Given the description of an element on the screen output the (x, y) to click on. 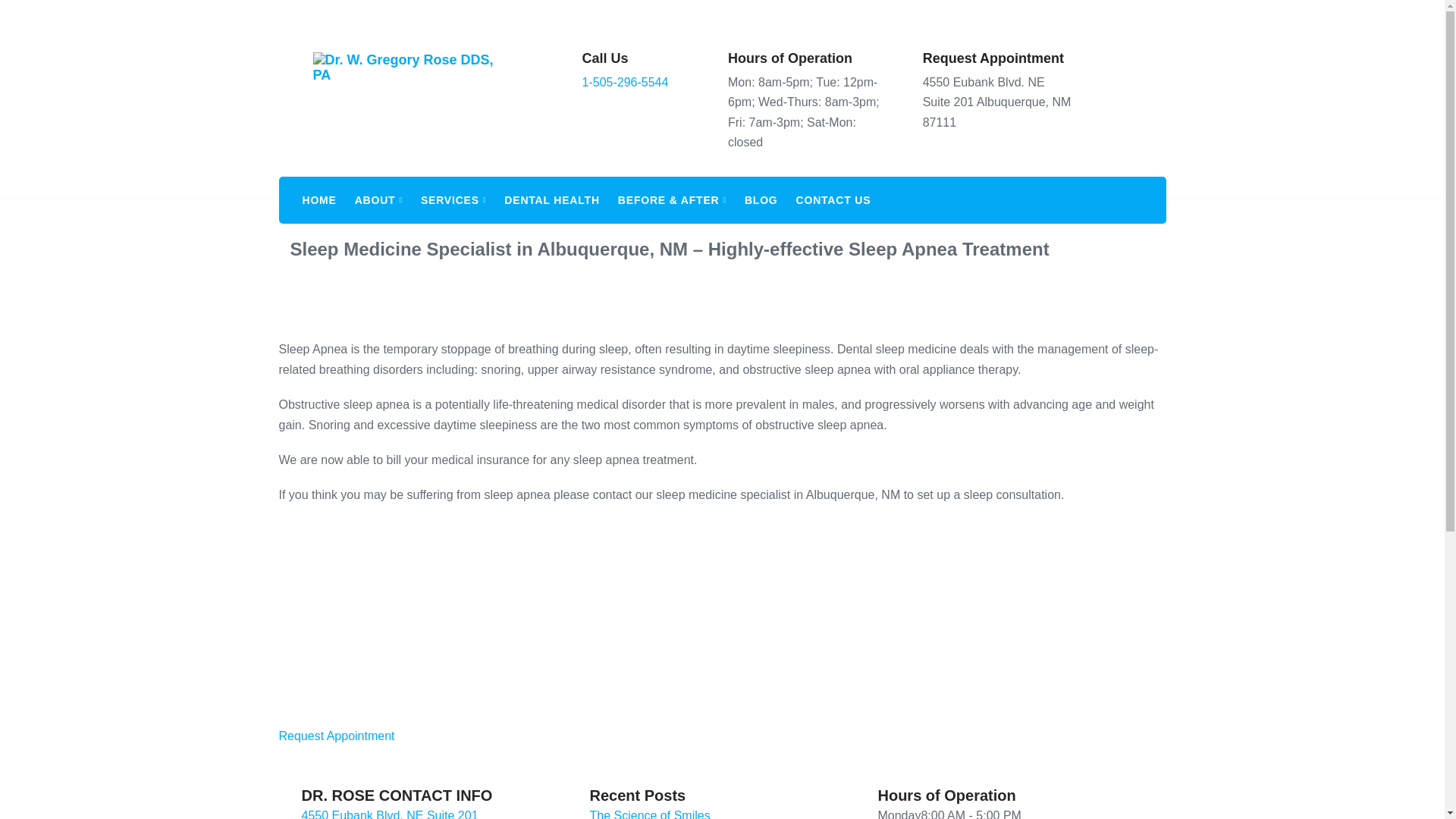
Dr. W. Gregory Rose DDS, PA (407, 87)
HOME (326, 199)
W. Gregory Rose DDS, PA (305, 208)
SERVICES (461, 199)
Request Appointment (993, 58)
The Science of Smiles (649, 814)
ABOUT (387, 199)
DENTAL HEALTH (559, 199)
BLOG (769, 199)
CONTACT US (842, 199)
